Given the description of an element on the screen output the (x, y) to click on. 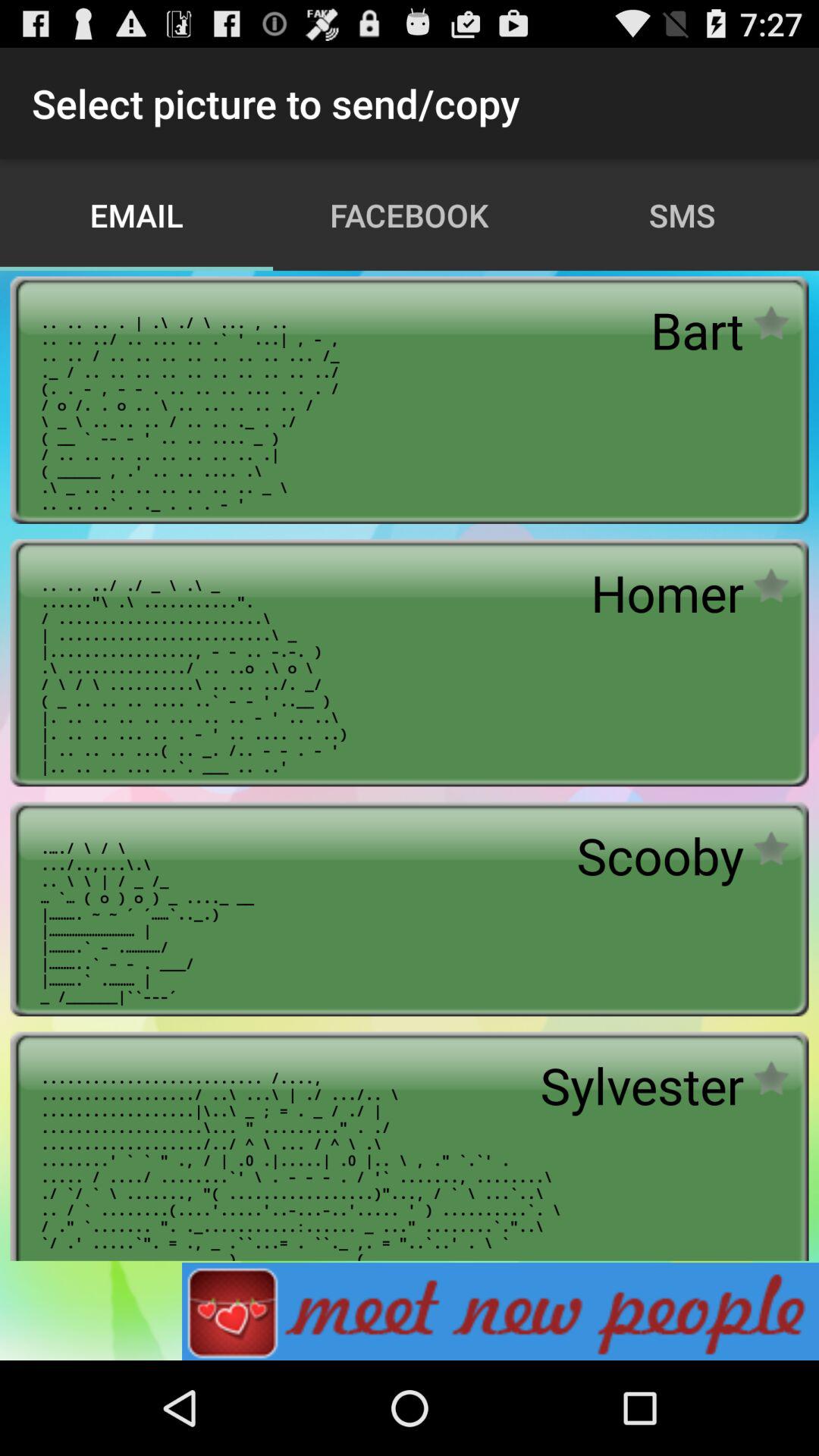
press icon below the homer item (659, 855)
